Given the description of an element on the screen output the (x, y) to click on. 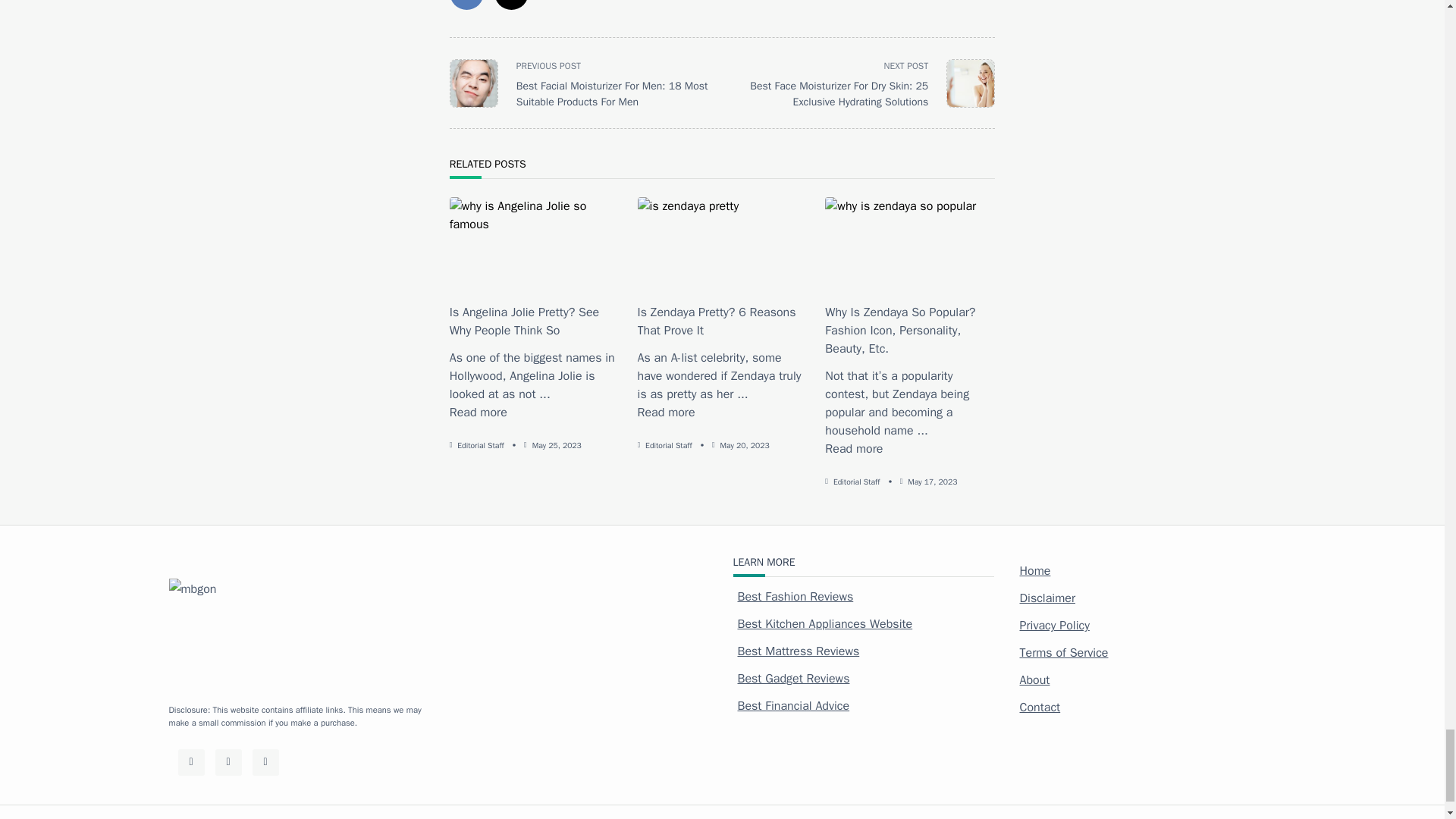
Is Angelina Jolie Pretty? See Why People Think So (477, 412)
Is Zendaya Pretty? 6 Reasons That Prove It (666, 412)
